Given the description of an element on the screen output the (x, y) to click on. 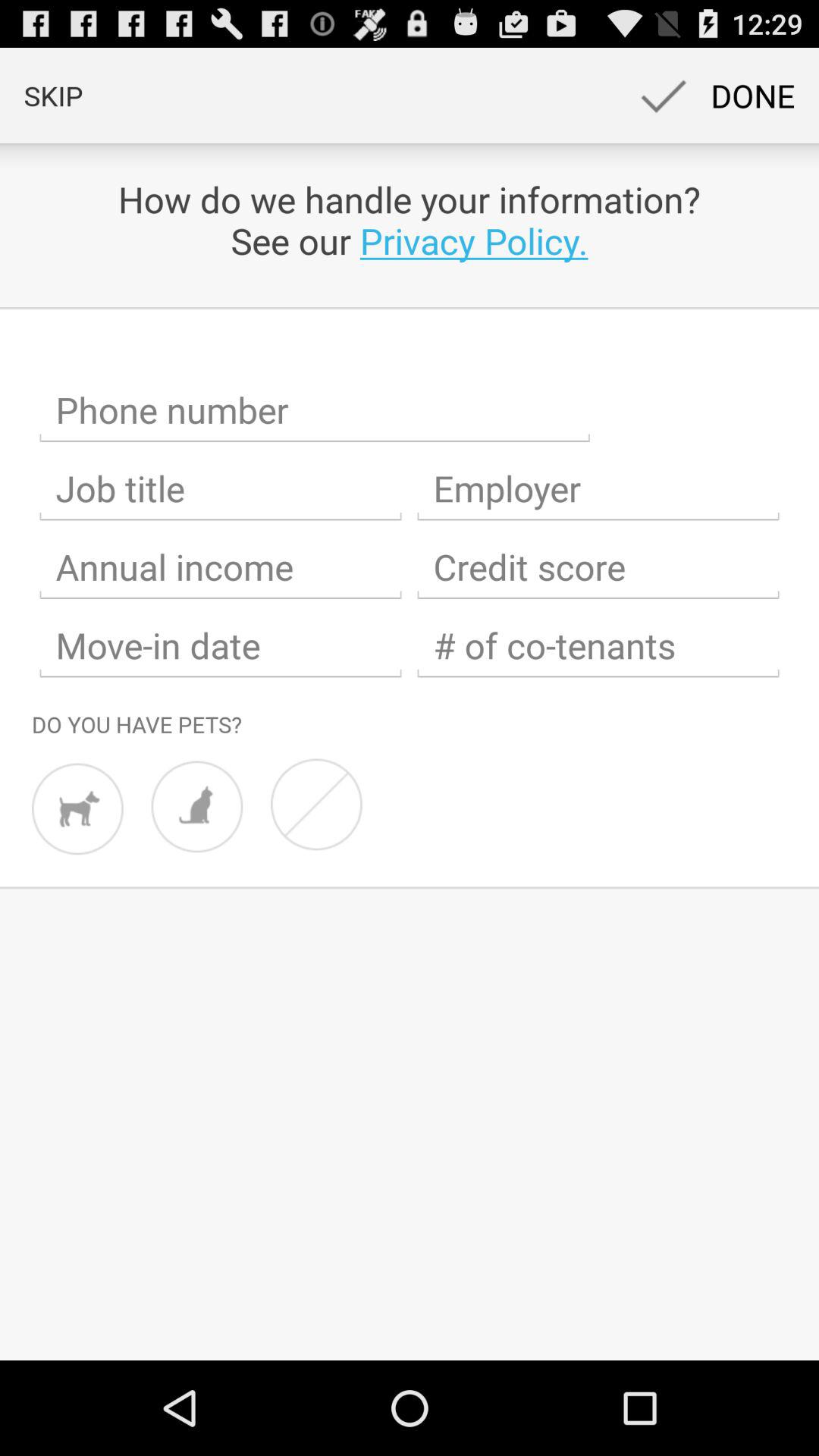
job title field (220, 488)
